Given the description of an element on the screen output the (x, y) to click on. 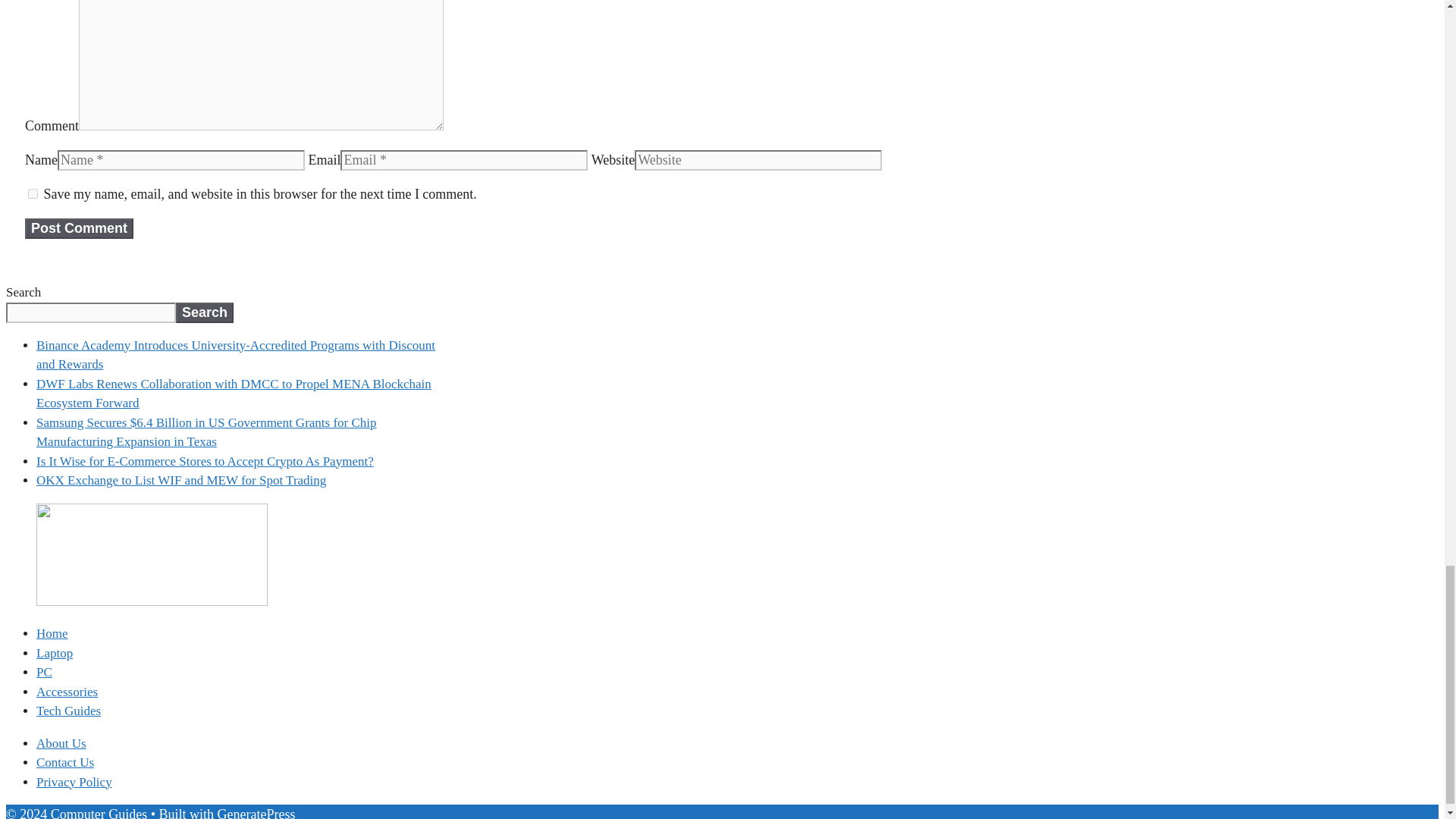
Post Comment (78, 228)
Privacy Policy (74, 780)
Contact Us (65, 762)
PC (44, 672)
Home (52, 633)
Accessories (66, 691)
Laptop (54, 652)
Tech Guides (68, 710)
OKX Exchange to List WIF and MEW for Spot Trading (181, 480)
About Us (60, 743)
Search (204, 312)
yes (32, 194)
